Given the description of an element on the screen output the (x, y) to click on. 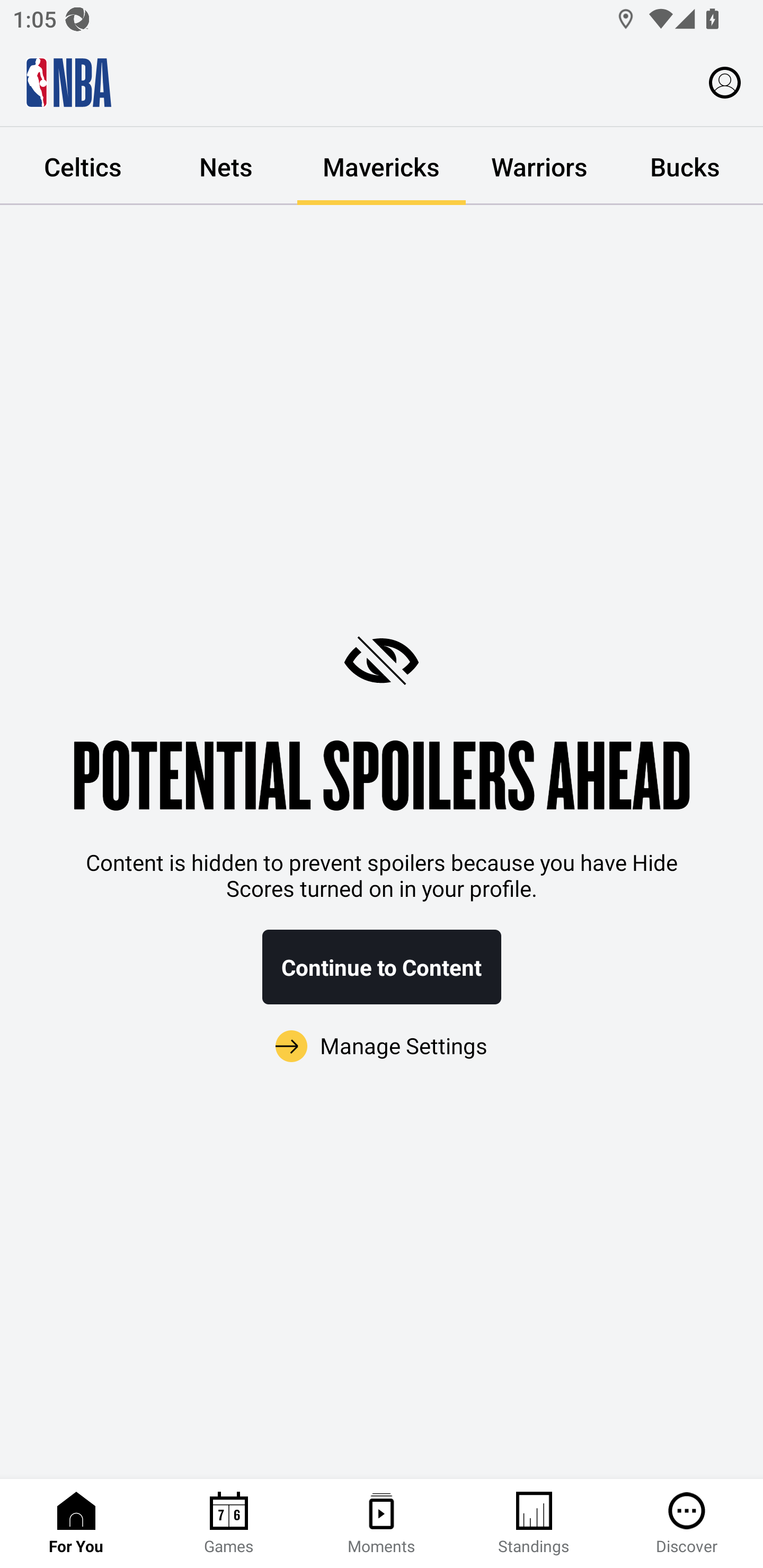
Profile (724, 81)
Celtics (82, 166)
Nets (225, 166)
Warriors (539, 166)
Bucks (684, 166)
Continue to Content (381, 967)
Manage Settings (381, 1046)
Games (228, 1523)
Moments (381, 1523)
Standings (533, 1523)
Discover (686, 1523)
